Given the description of an element on the screen output the (x, y) to click on. 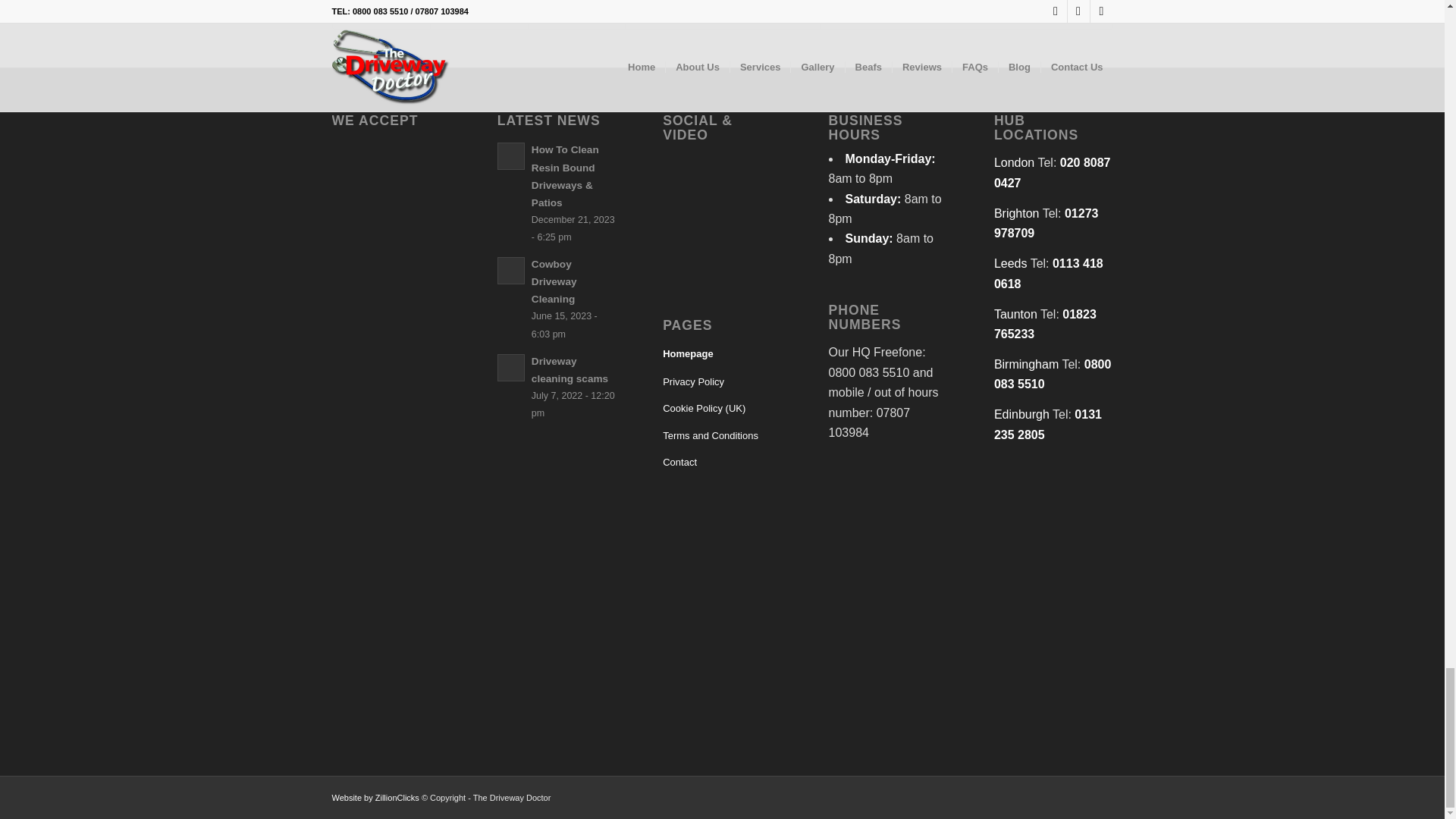
Driveway cleaning scams (569, 369)
Cowboy Driveway Cleaning (553, 281)
